Given the description of an element on the screen output the (x, y) to click on. 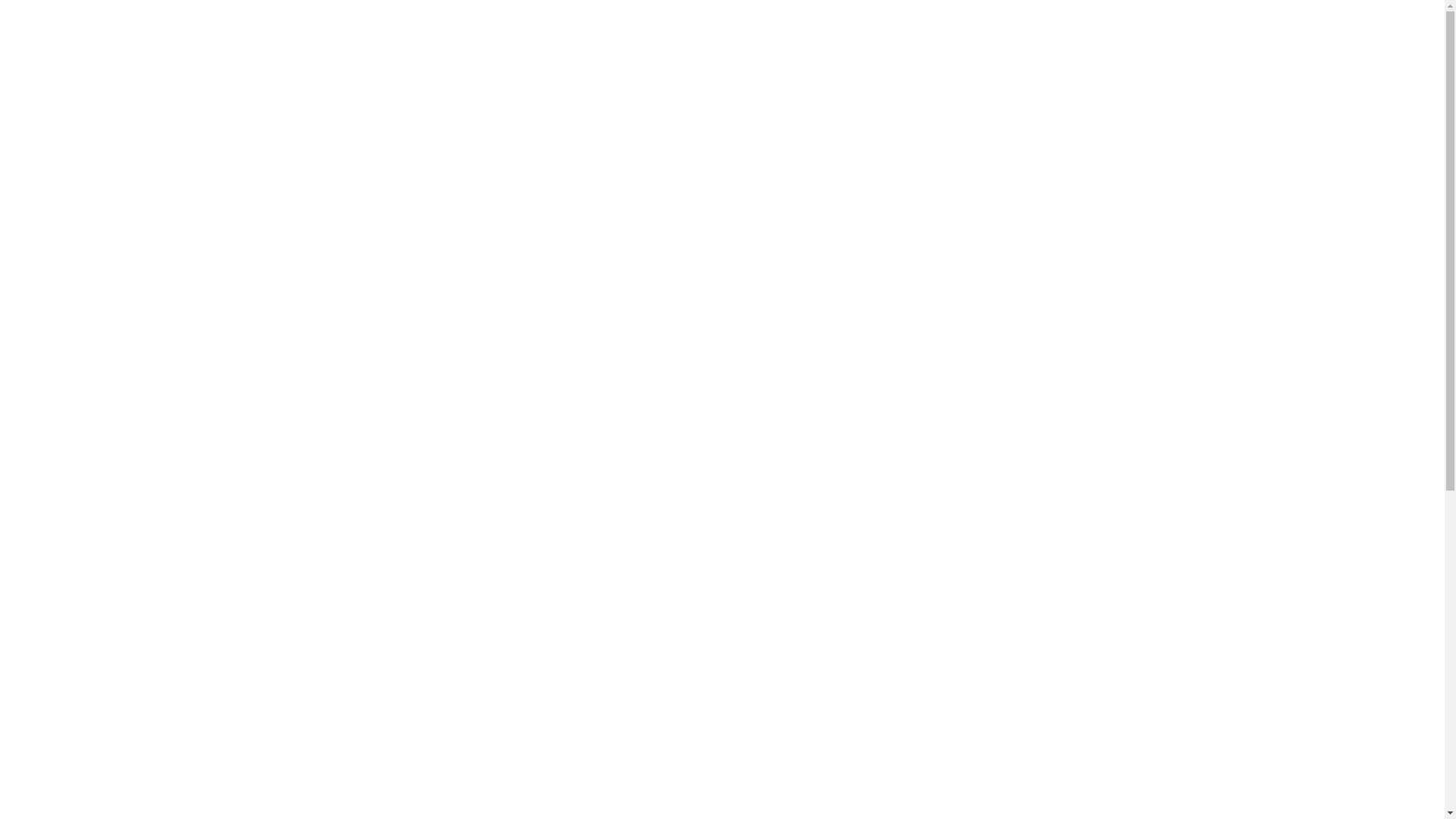
contact Element type: text (106, 124)
events Element type: text (51, 31)
events Element type: text (59, 174)
services Element type: text (65, 194)
services Element type: text (108, 110)
home Element type: text (56, 153)
contact Element type: text (62, 215)
home Element type: text (49, 18)
